Given the description of an element on the screen output the (x, y) to click on. 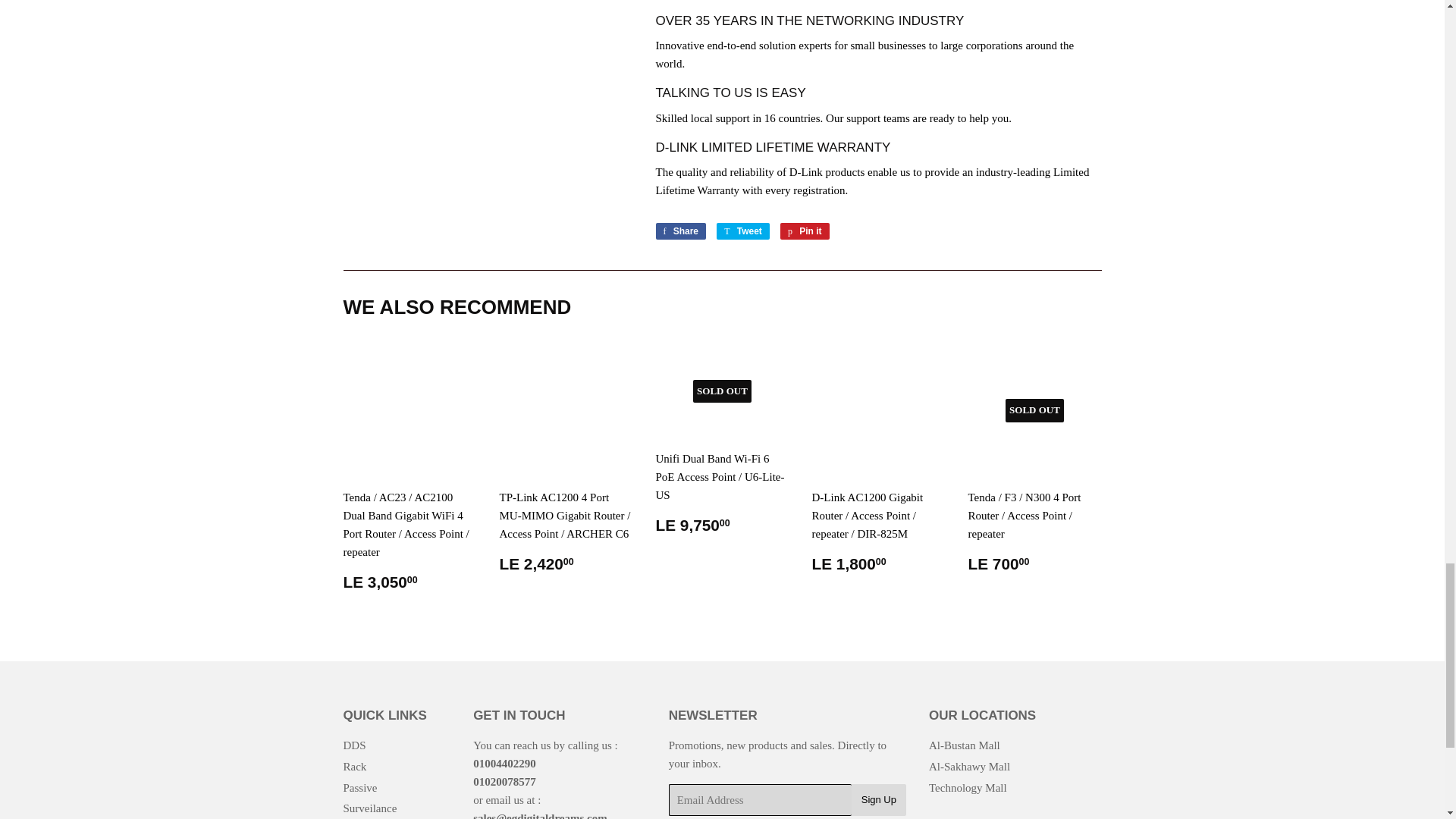
Share on Facebook (680, 230)
Pin on Pinterest (804, 230)
Tweet on Twitter (743, 230)
